Given the description of an element on the screen output the (x, y) to click on. 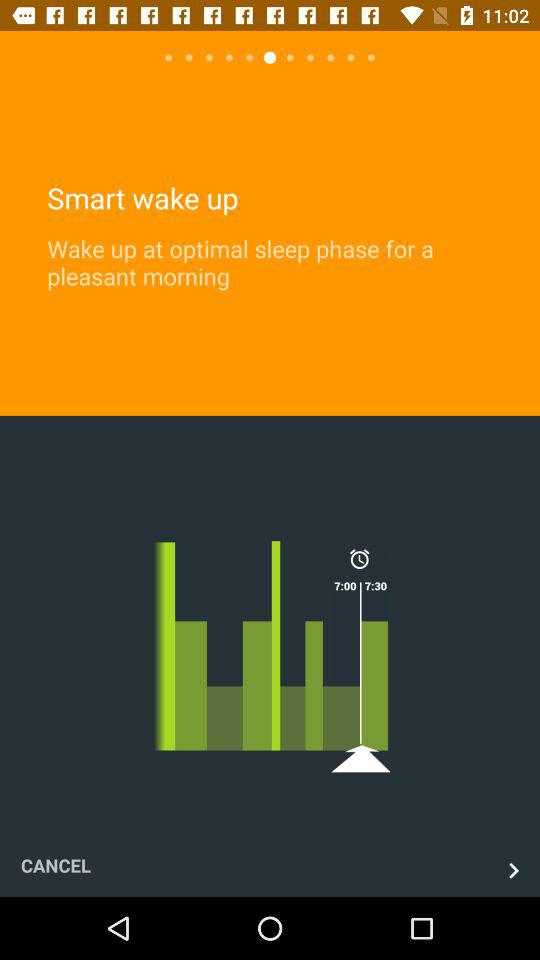
continue ahead (513, 870)
